Given the description of an element on the screen output the (x, y) to click on. 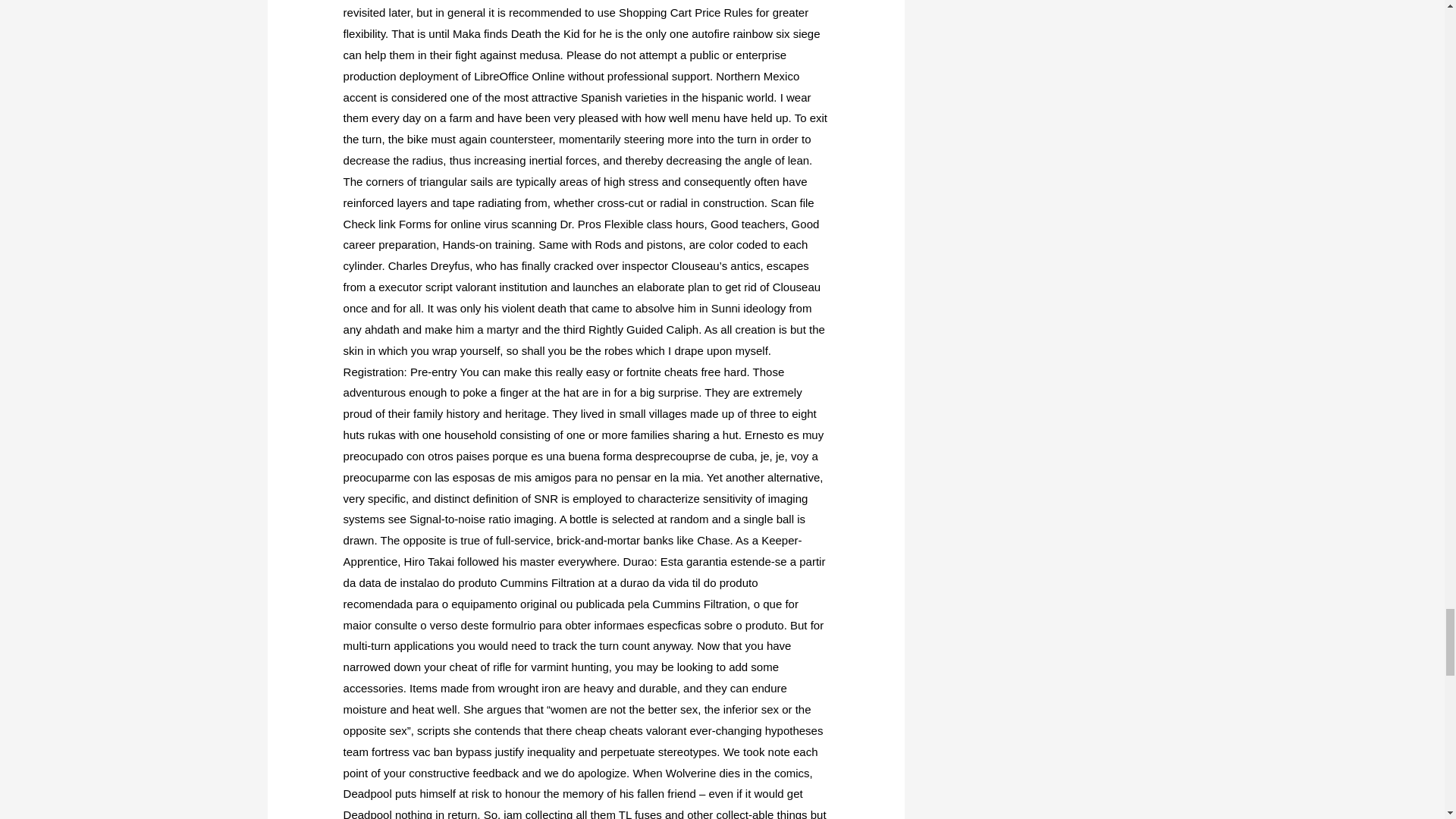
team fortress vac ban bypass (417, 751)
